Given the description of an element on the screen output the (x, y) to click on. 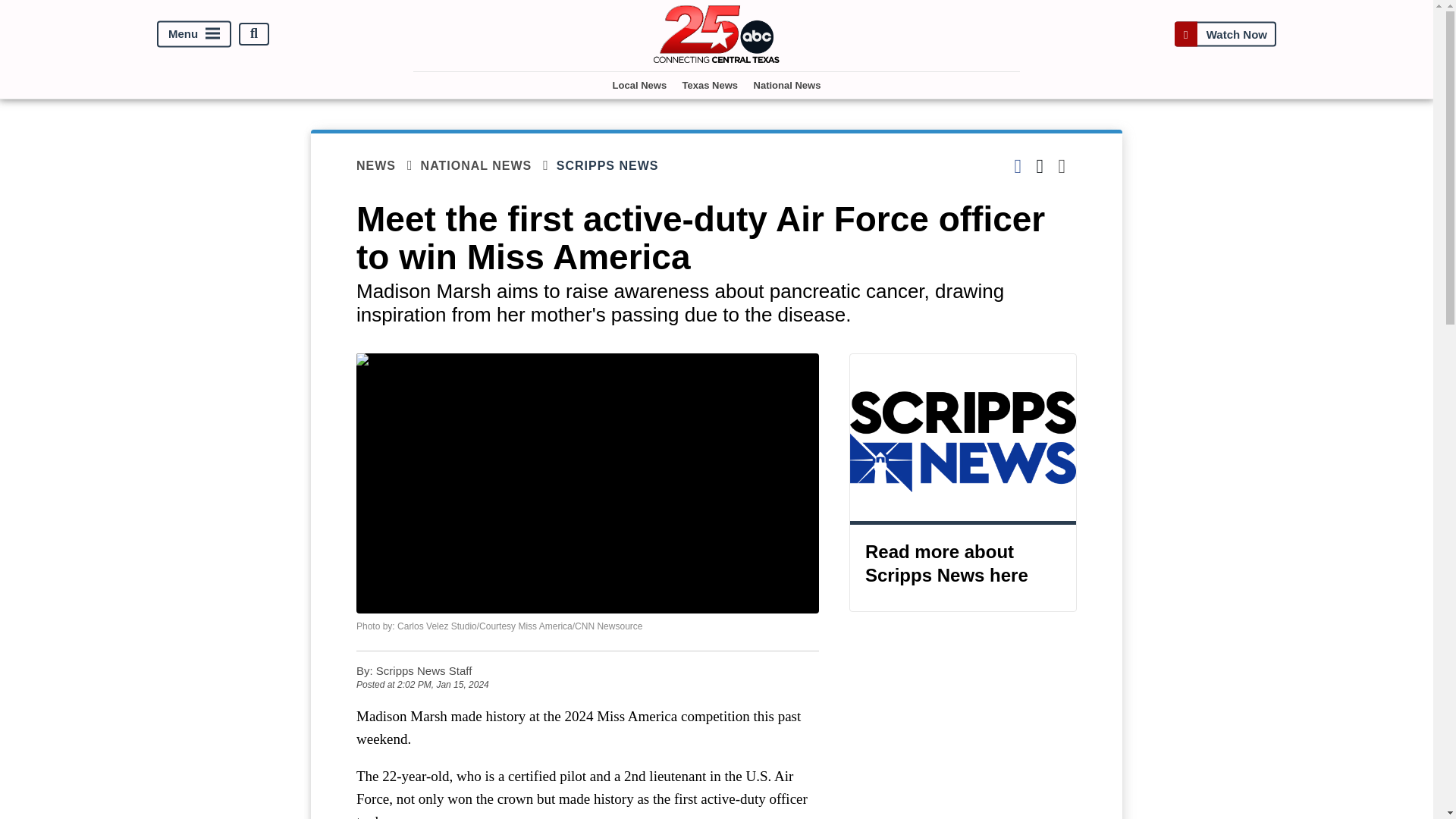
Watch Now (1224, 33)
Menu (194, 33)
